Given the description of an element on the screen output the (x, y) to click on. 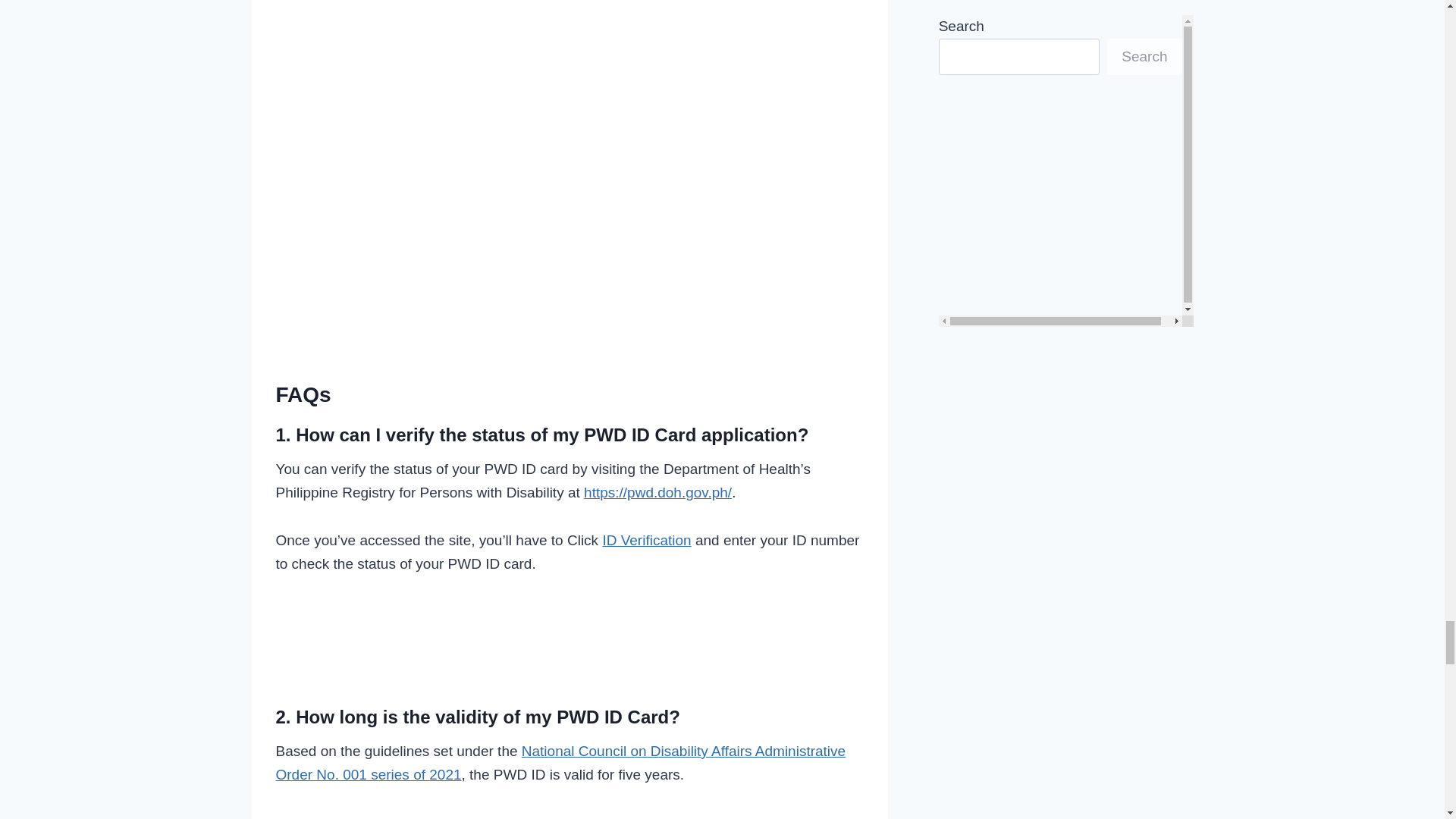
ID Verification (646, 539)
